Given the description of an element on the screen output the (x, y) to click on. 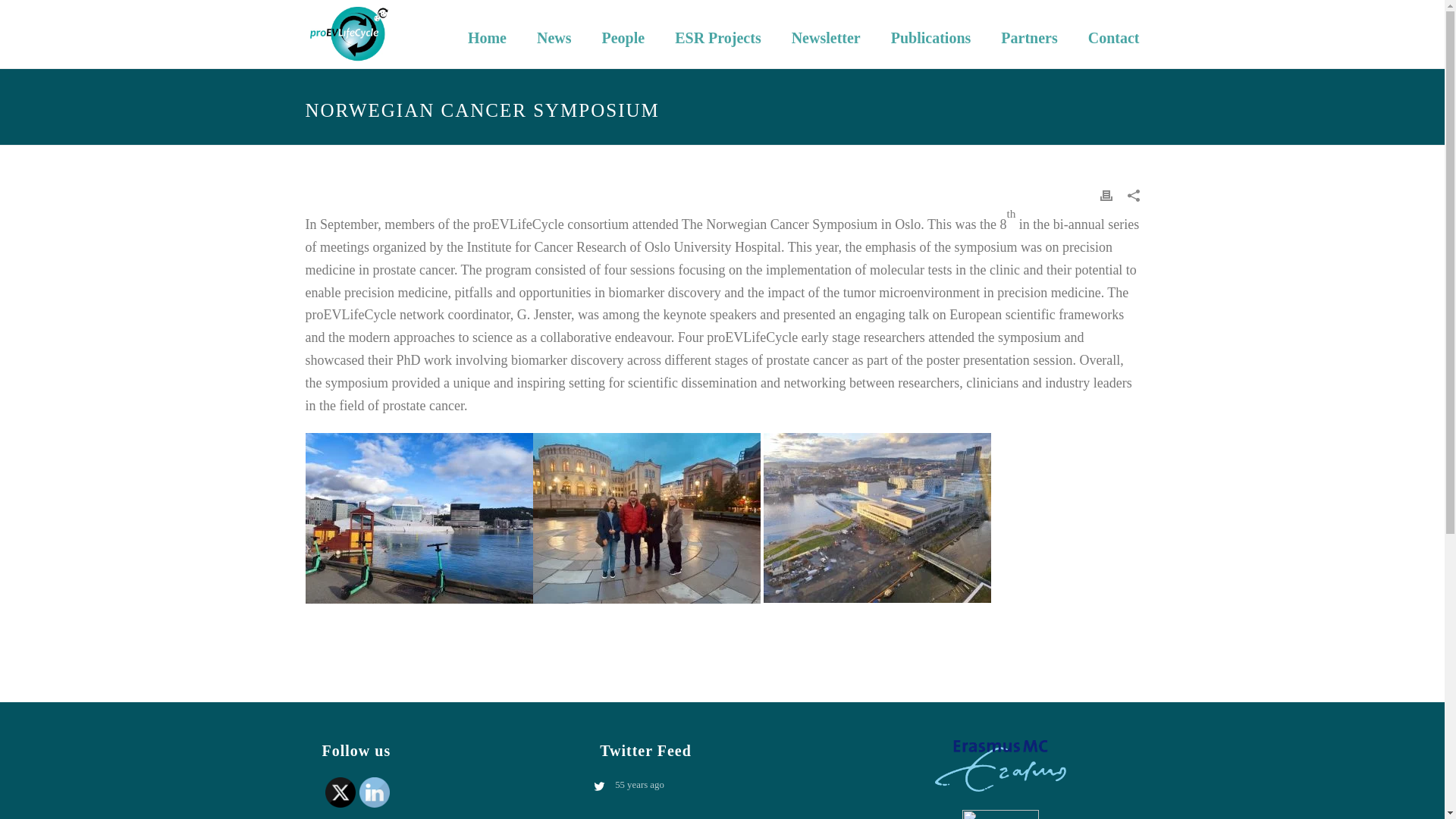
ESR Projects (717, 33)
Home (486, 33)
Partners (1028, 33)
Contact (1113, 33)
55 years ago (729, 784)
Contact (1113, 33)
Home (486, 33)
Publications (931, 33)
Publications (931, 33)
Newsletter (826, 33)
Partners (1028, 33)
News (553, 33)
ESR Projects (717, 33)
People (623, 33)
People (623, 33)
